Given the description of an element on the screen output the (x, y) to click on. 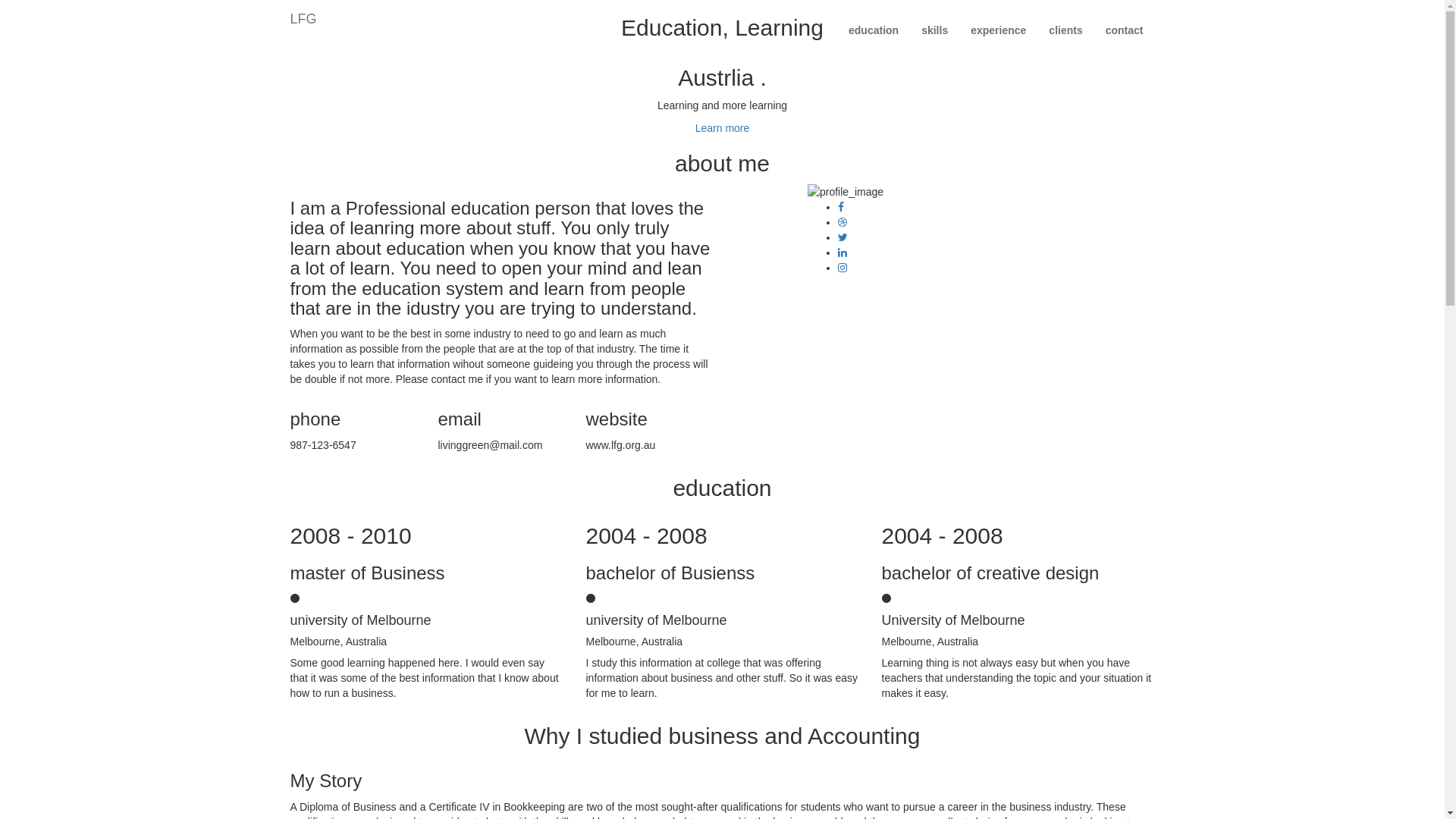
LFG Element type: text (303, 18)
clients Element type: text (1065, 30)
Learn more Element type: text (722, 128)
contact Element type: text (1124, 30)
experience Element type: text (998, 30)
skills Element type: text (934, 30)
education Element type: text (873, 30)
